Given the description of an element on the screen output the (x, y) to click on. 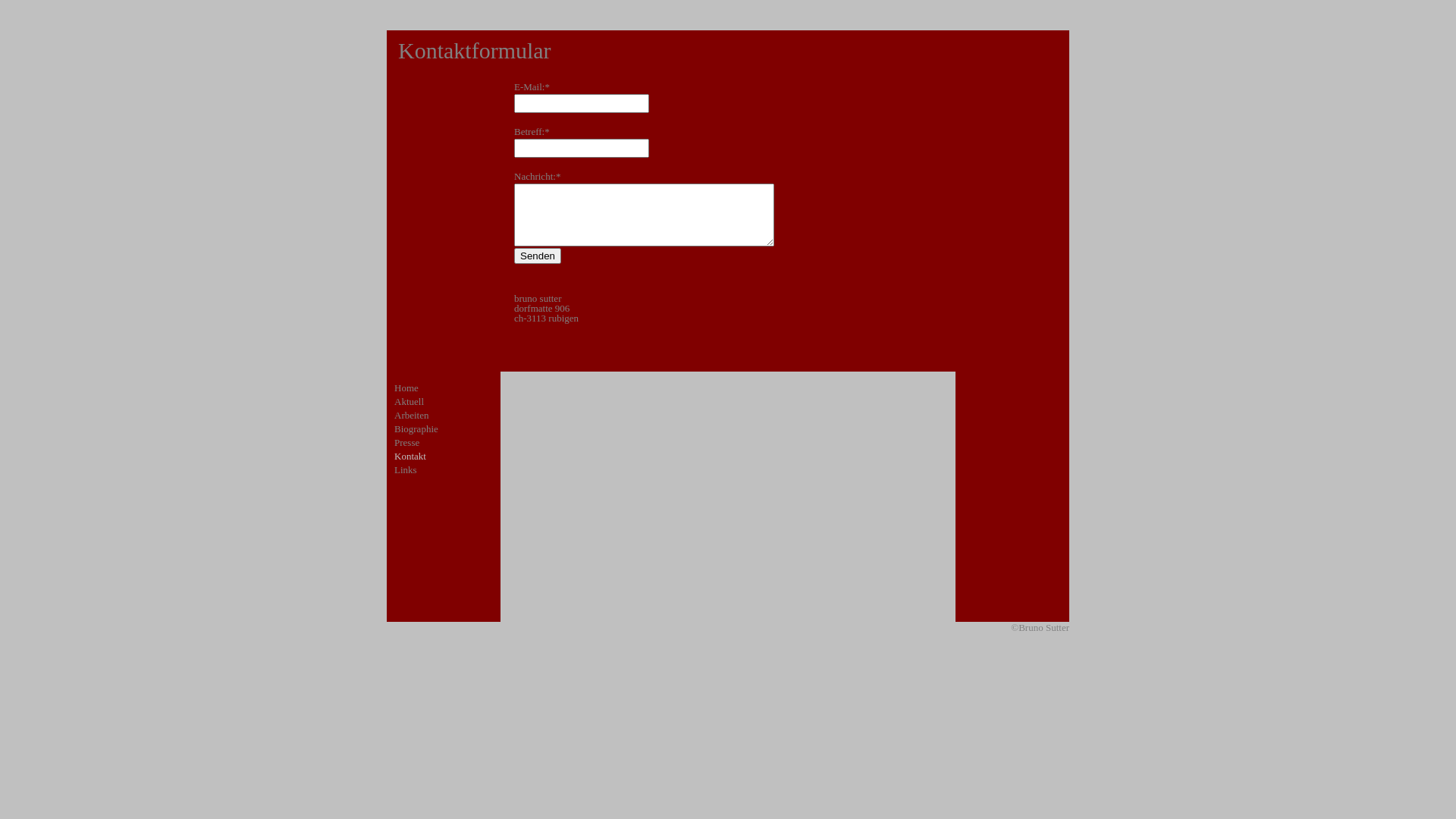
Biographie Element type: text (416, 428)
Senden Element type: text (537, 255)
Aktuell Element type: text (408, 401)
Arbeiten Element type: text (411, 414)
  Element type: text (385, 486)
Home Element type: text (406, 387)
Presse Element type: text (406, 442)
Links Element type: text (405, 469)
